Given the description of an element on the screen output the (x, y) to click on. 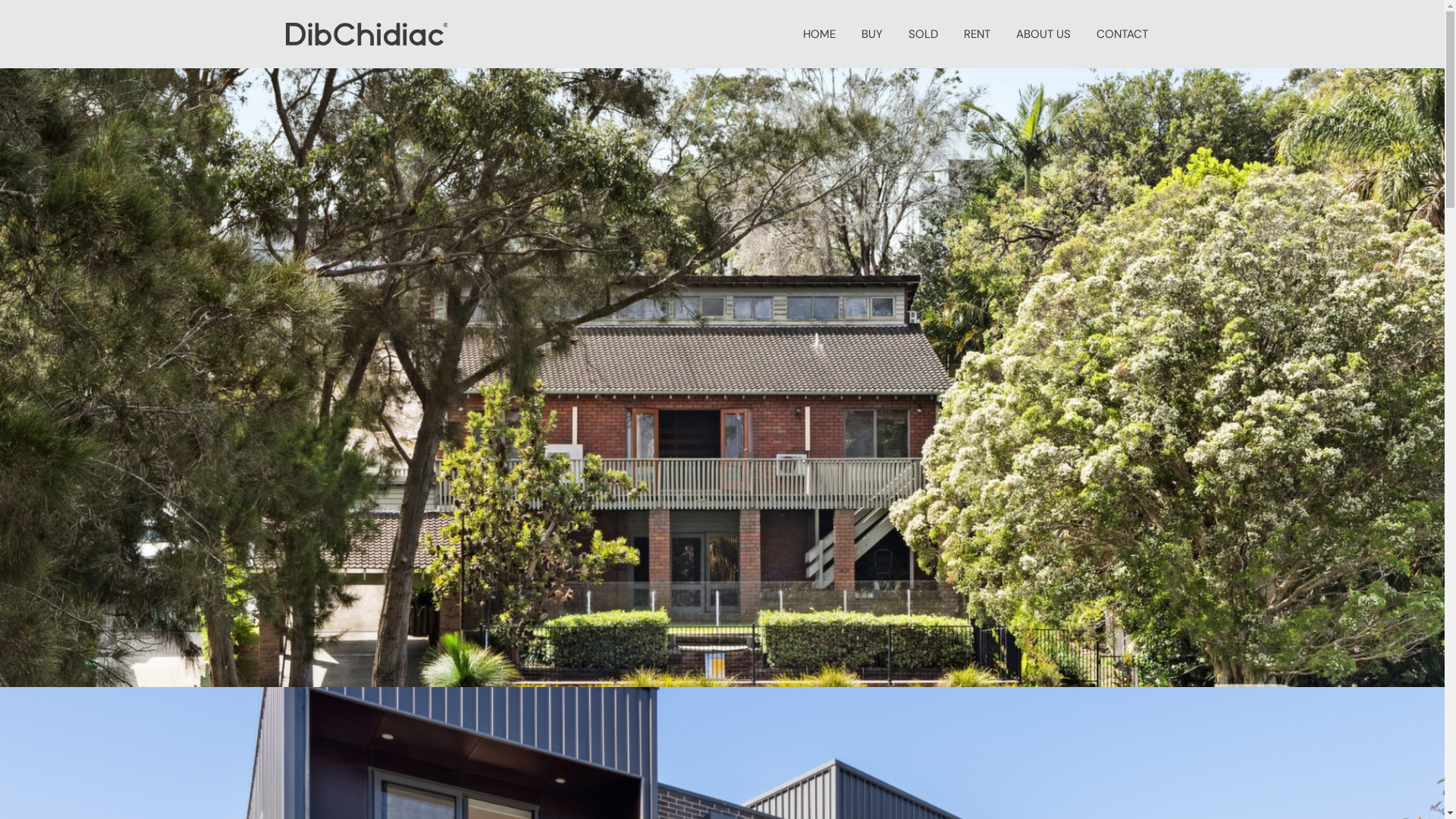
45A Bayview Street
Tennyson Point Element type: text (722, 377)
ABOUT US Element type: text (1042, 33)
SOLD Element type: text (922, 33)
HOME Element type: text (819, 33)
RENT Element type: text (976, 33)
BUY Element type: text (871, 33)
CONTACT Element type: text (1121, 33)
